Given the description of an element on the screen output the (x, y) to click on. 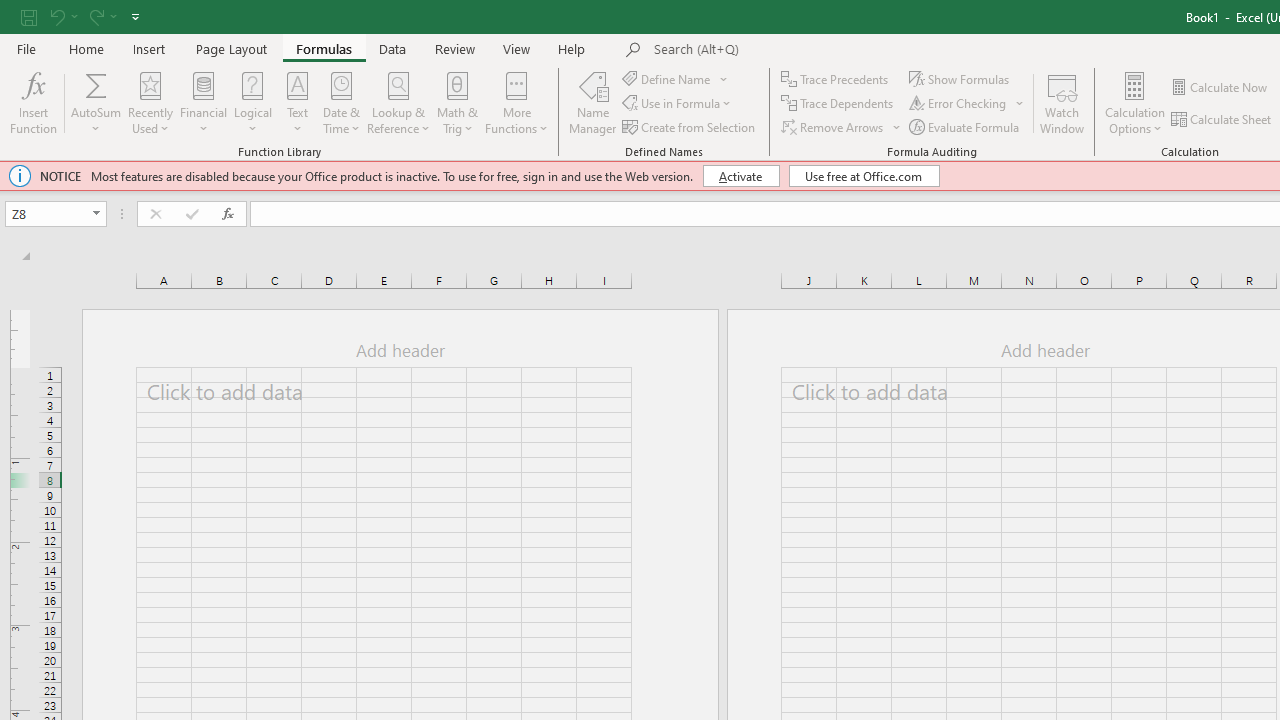
Text (297, 102)
Show Formulas (961, 78)
Calculation Options (1135, 102)
Logical (253, 102)
Remove Arrows (833, 126)
